Given the description of an element on the screen output the (x, y) to click on. 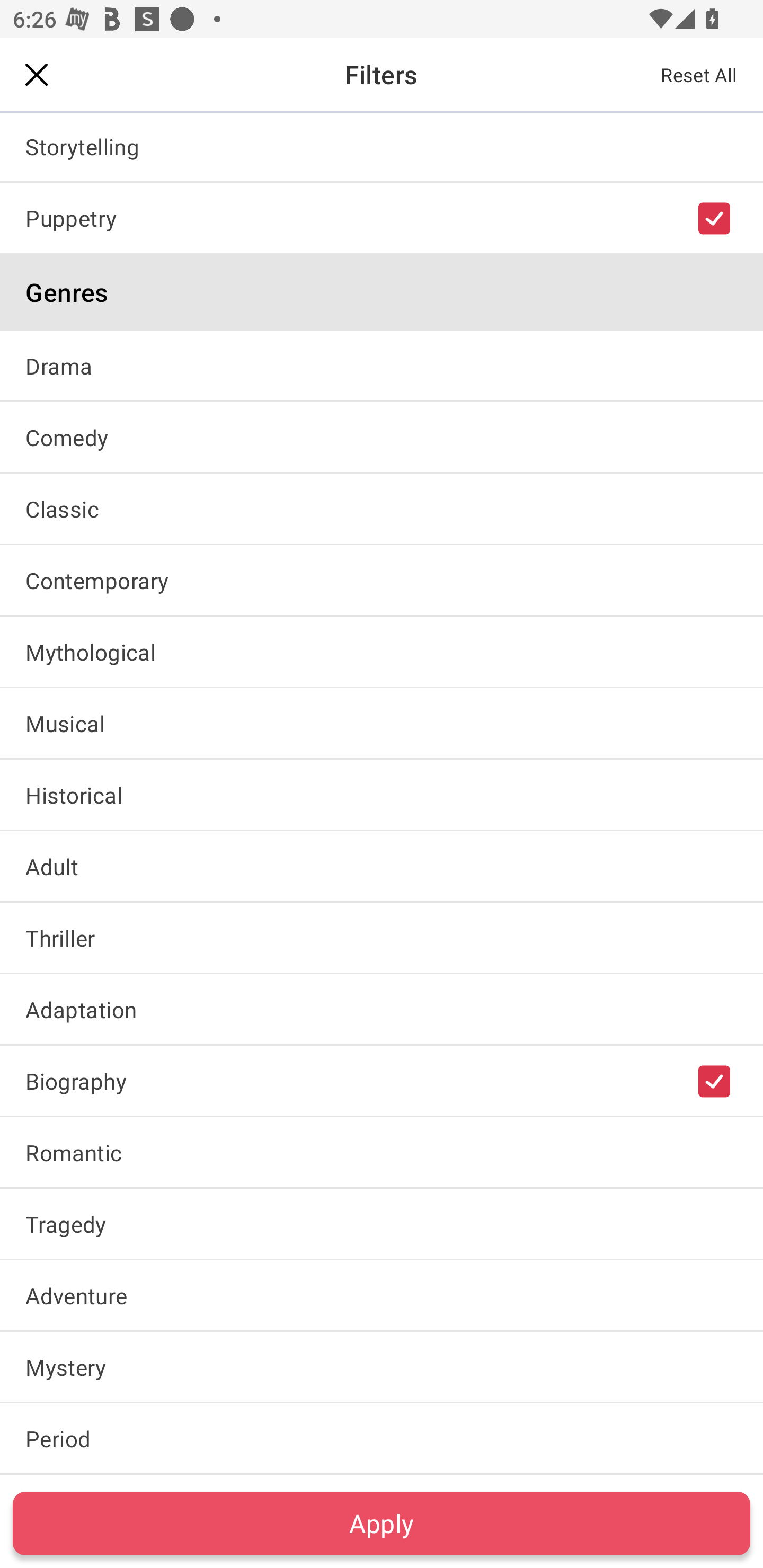
Close (36, 74)
Reset All (699, 74)
Theatre (381, 74)
Storytelling (381, 146)
Puppetry  (381, 217)
Drama (381, 364)
Comedy (381, 436)
Classic (381, 508)
Contemporary (381, 579)
Mythological (381, 651)
Musical (381, 722)
Historical (381, 793)
Adult (381, 866)
Thriller (381, 937)
Adaptation (381, 1008)
Biography  (381, 1079)
Romantic (381, 1151)
Tragedy (381, 1223)
Adventure (381, 1294)
Mystery (381, 1366)
Period (381, 1438)
Apply (381, 1523)
